Given the description of an element on the screen output the (x, y) to click on. 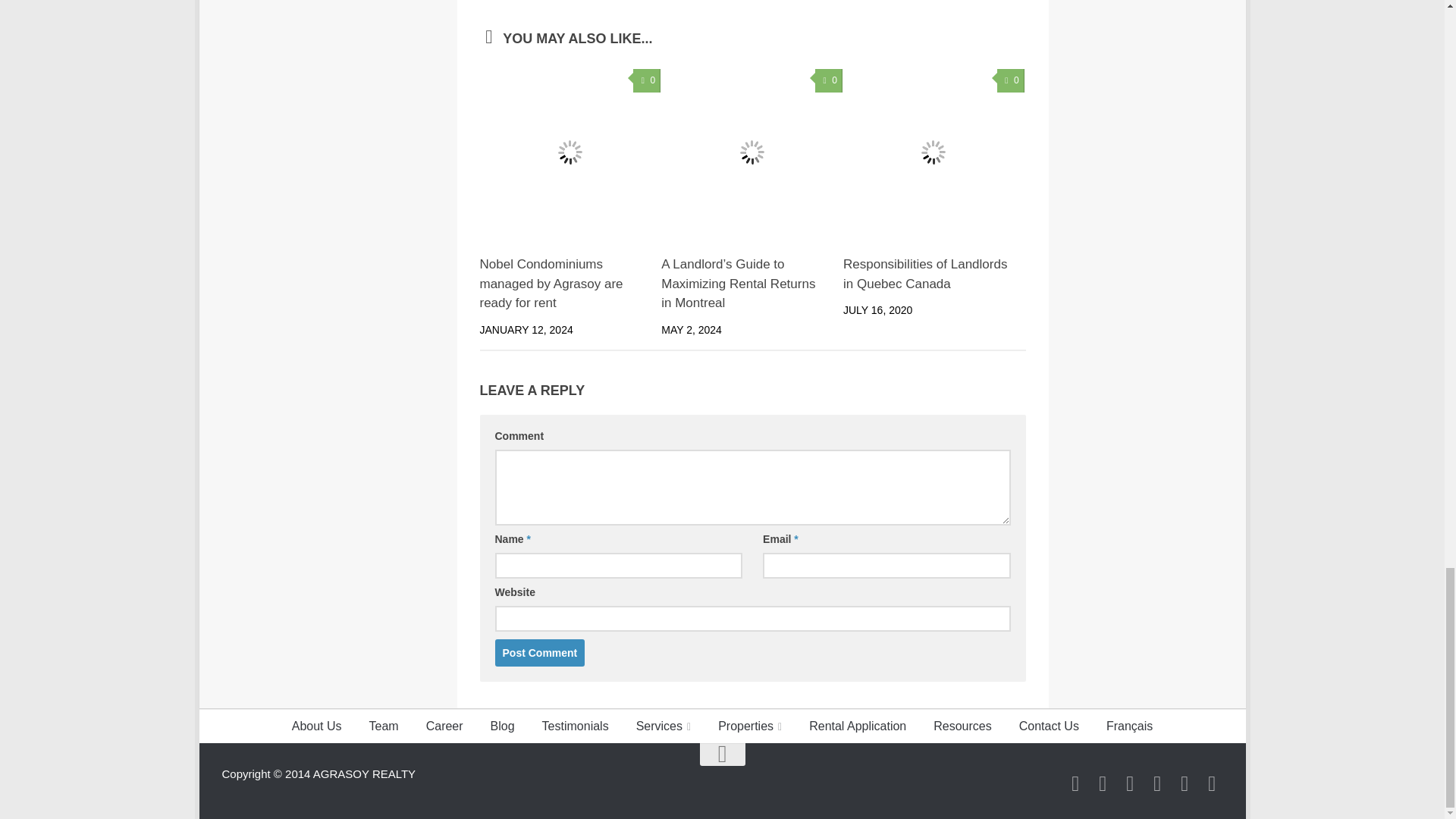
Permalink to Responsibilities of Landlords in Quebec Canada (925, 274)
Post Comment (540, 652)
